Given the description of an element on the screen output the (x, y) to click on. 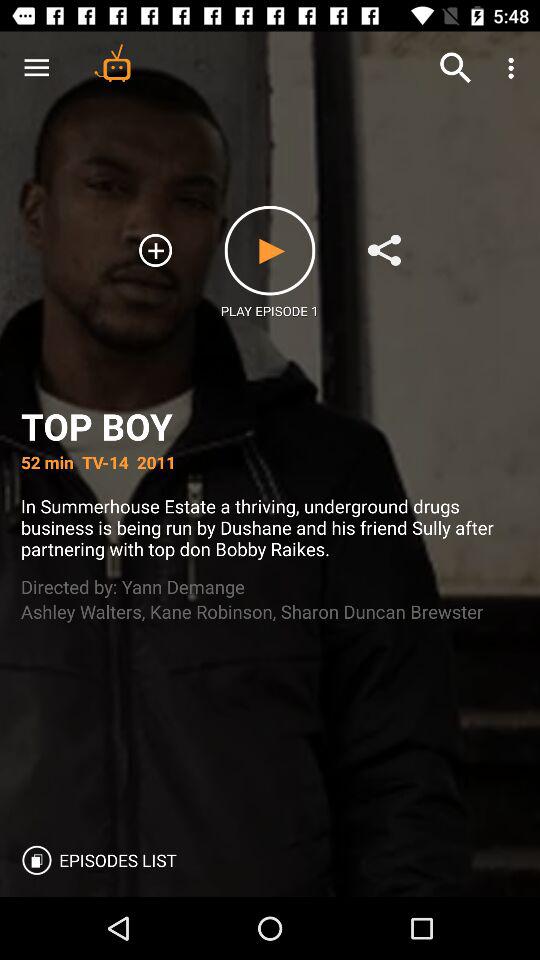
turn off icon above the top boy (36, 68)
